Given the description of an element on the screen output the (x, y) to click on. 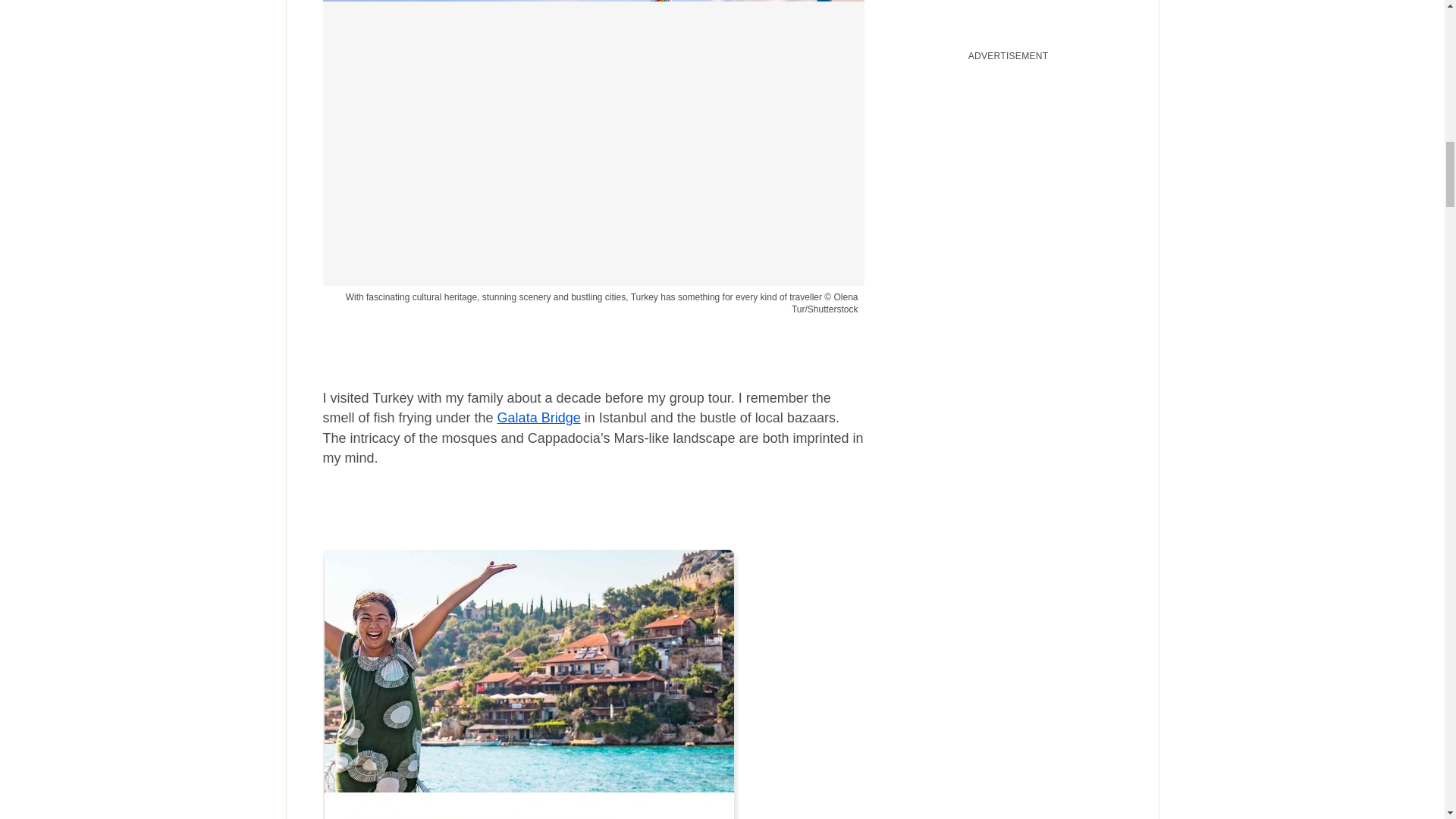
Lonely Planet Experiences tour of Turkey (530, 671)
Galata Bridge (538, 417)
